Given the description of an element on the screen output the (x, y) to click on. 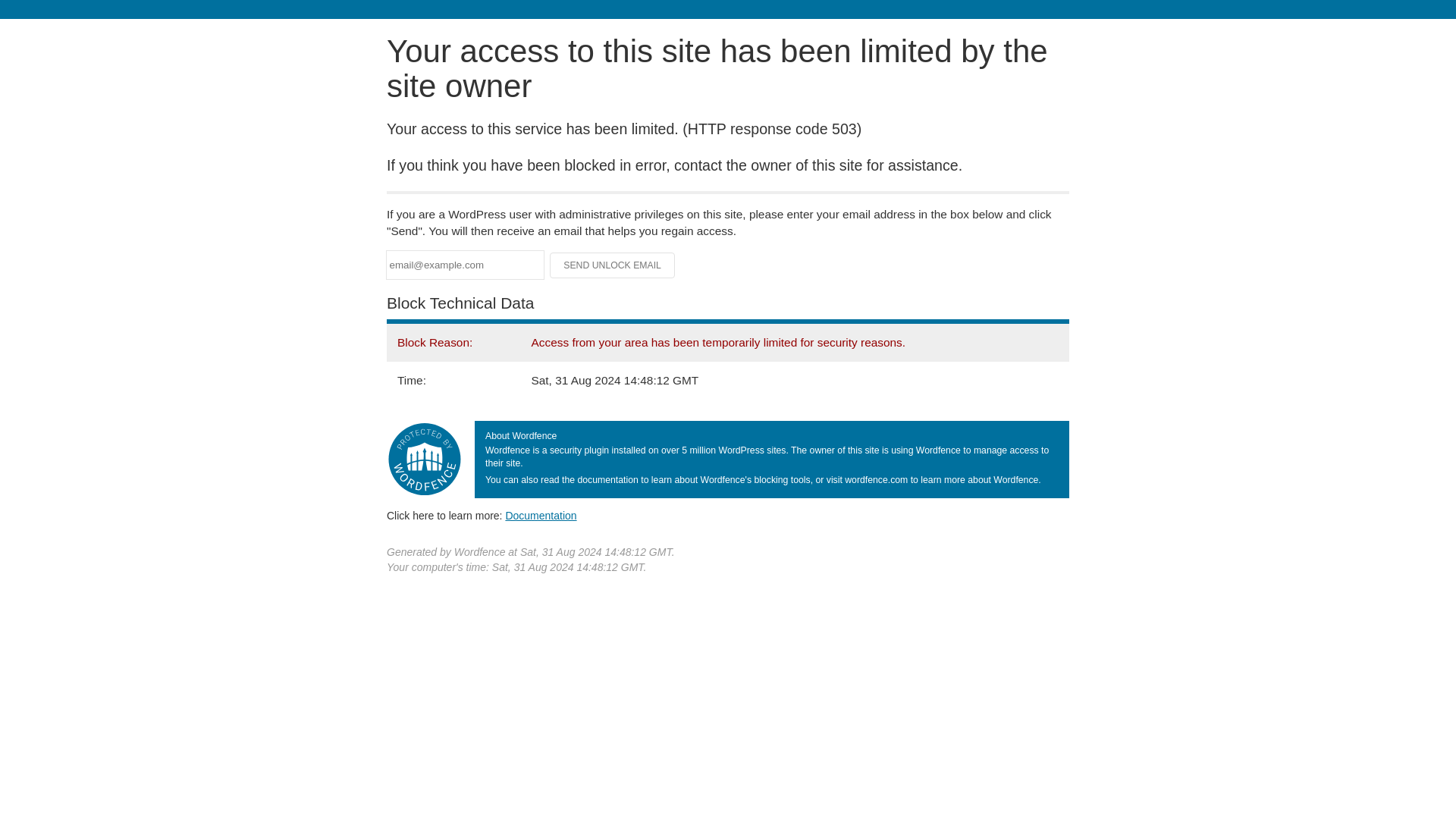
Send Unlock Email (612, 265)
Documentation (540, 515)
Send Unlock Email (612, 265)
